Given the description of an element on the screen output the (x, y) to click on. 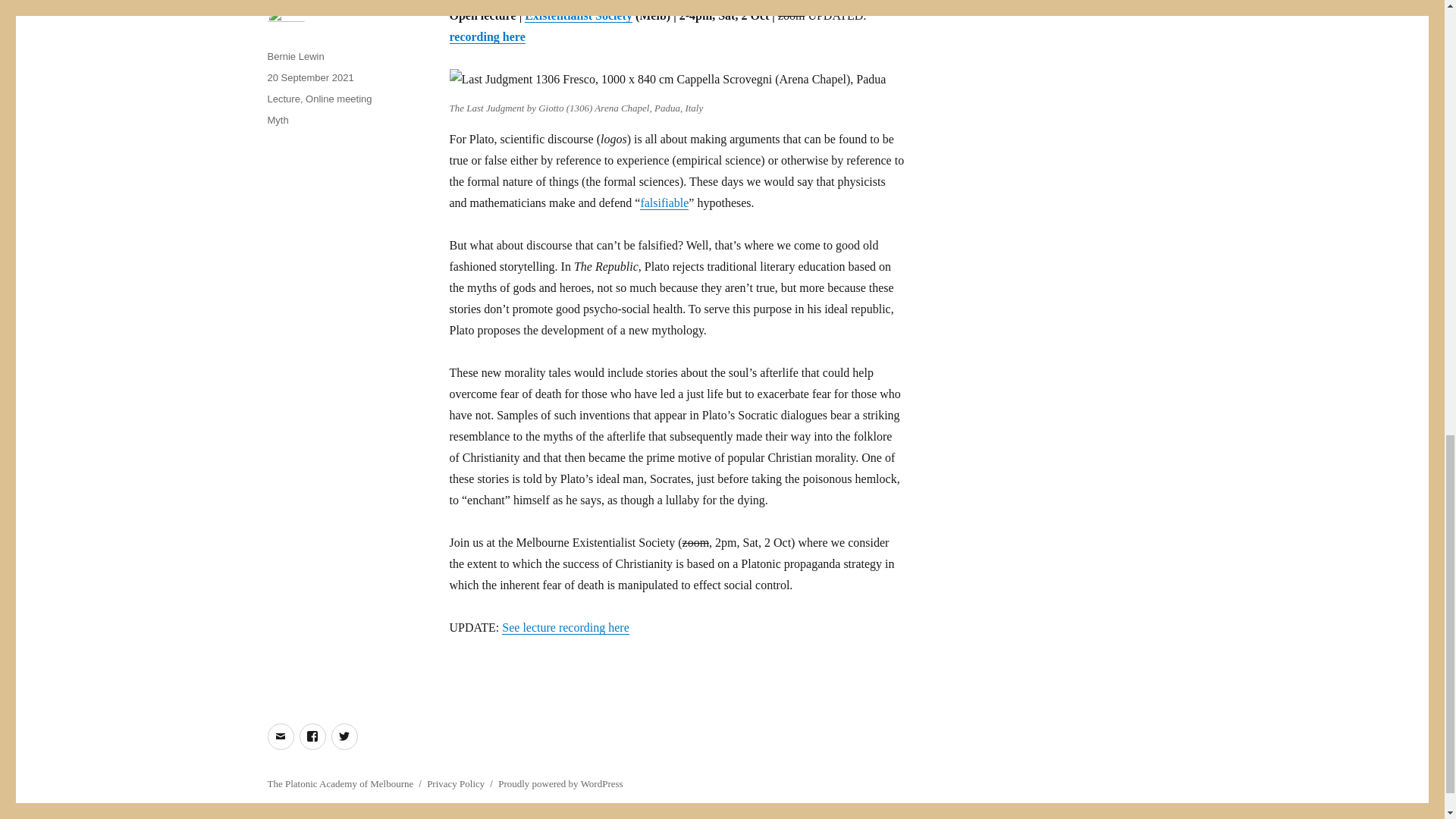
Bernie Lewin (294, 56)
Lecture (282, 98)
Email (280, 736)
20 September 2021 (309, 77)
Online meeting (338, 98)
Existentialist Society (577, 15)
Myth (277, 120)
See lecture recording here (565, 626)
falsifiable (664, 202)
Platonic Academy Melbourne Facebook (311, 736)
